Given the description of an element on the screen output the (x, y) to click on. 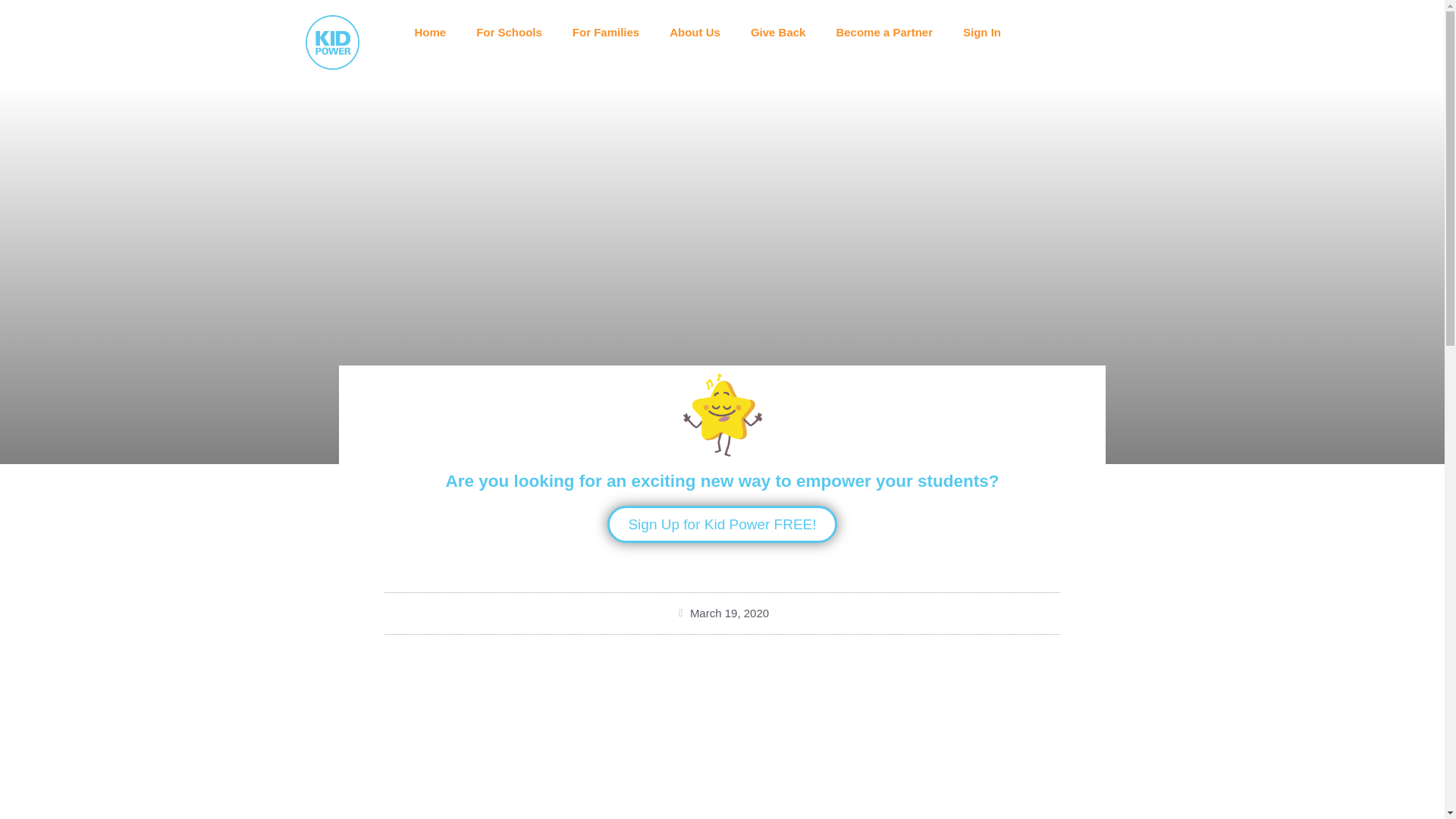
Sign Up for Kid Power FREE! (721, 524)
Home (429, 32)
Become a Partner (884, 32)
For Families (605, 32)
Sign In (981, 32)
About Us (694, 32)
March 19, 2020 (721, 613)
For Schools (509, 32)
Give Back (778, 32)
